Given the description of an element on the screen output the (x, y) to click on. 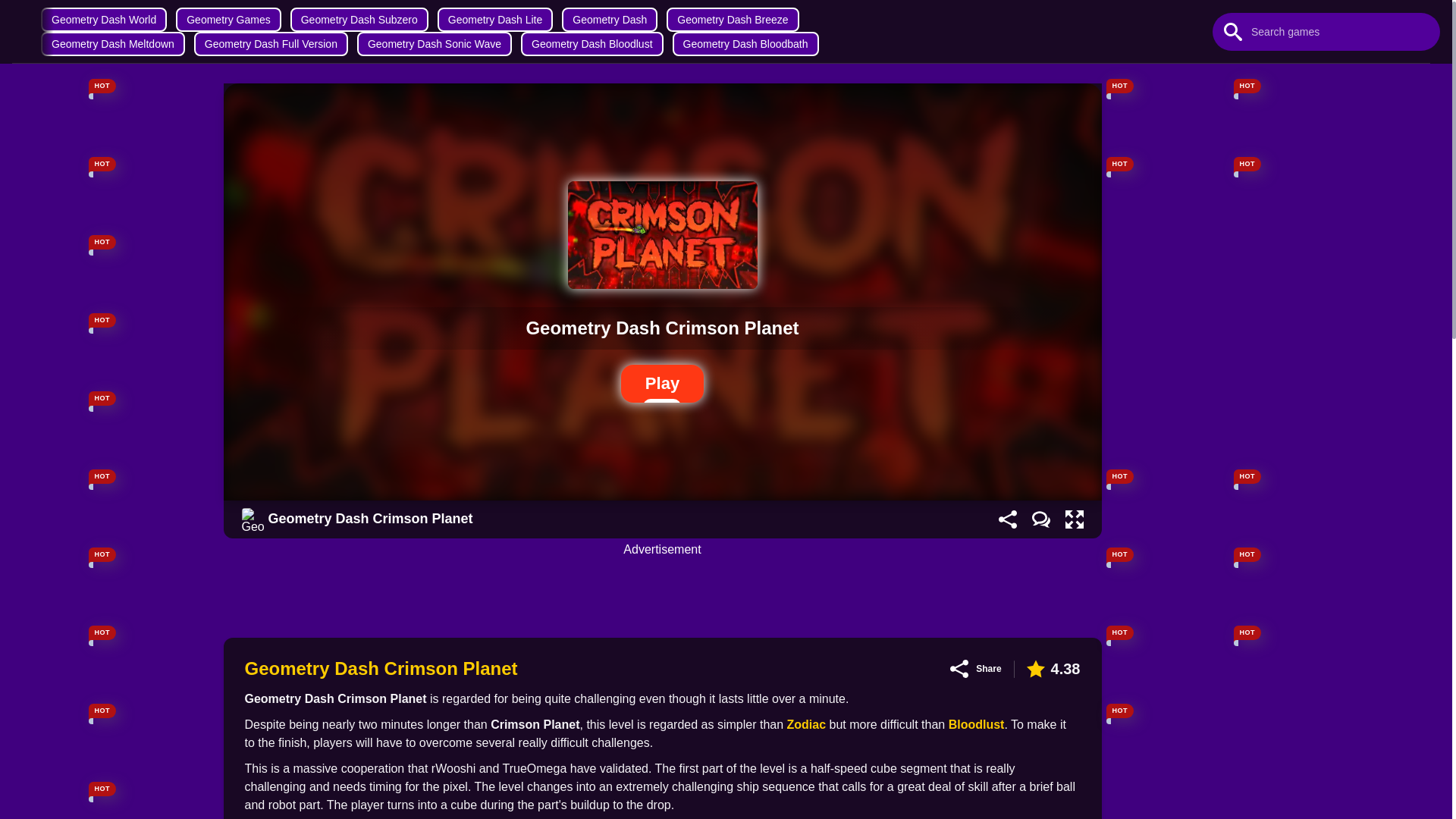
Geometry Dash Meltdown (112, 43)
Geometry Dash World (103, 19)
Geometry Dash (610, 19)
Geometry Dash Subzero (358, 19)
Geometry Dash Bloodlust (592, 43)
Geometry Dash Breeze (731, 19)
Geometry Dash Bloodbath (745, 43)
Geometry Dash Lite (495, 19)
Geometry Dash Sonic Wave (434, 43)
Geometry Games (228, 19)
Geometry Dash Full Version (270, 43)
